Given the description of an element on the screen output the (x, y) to click on. 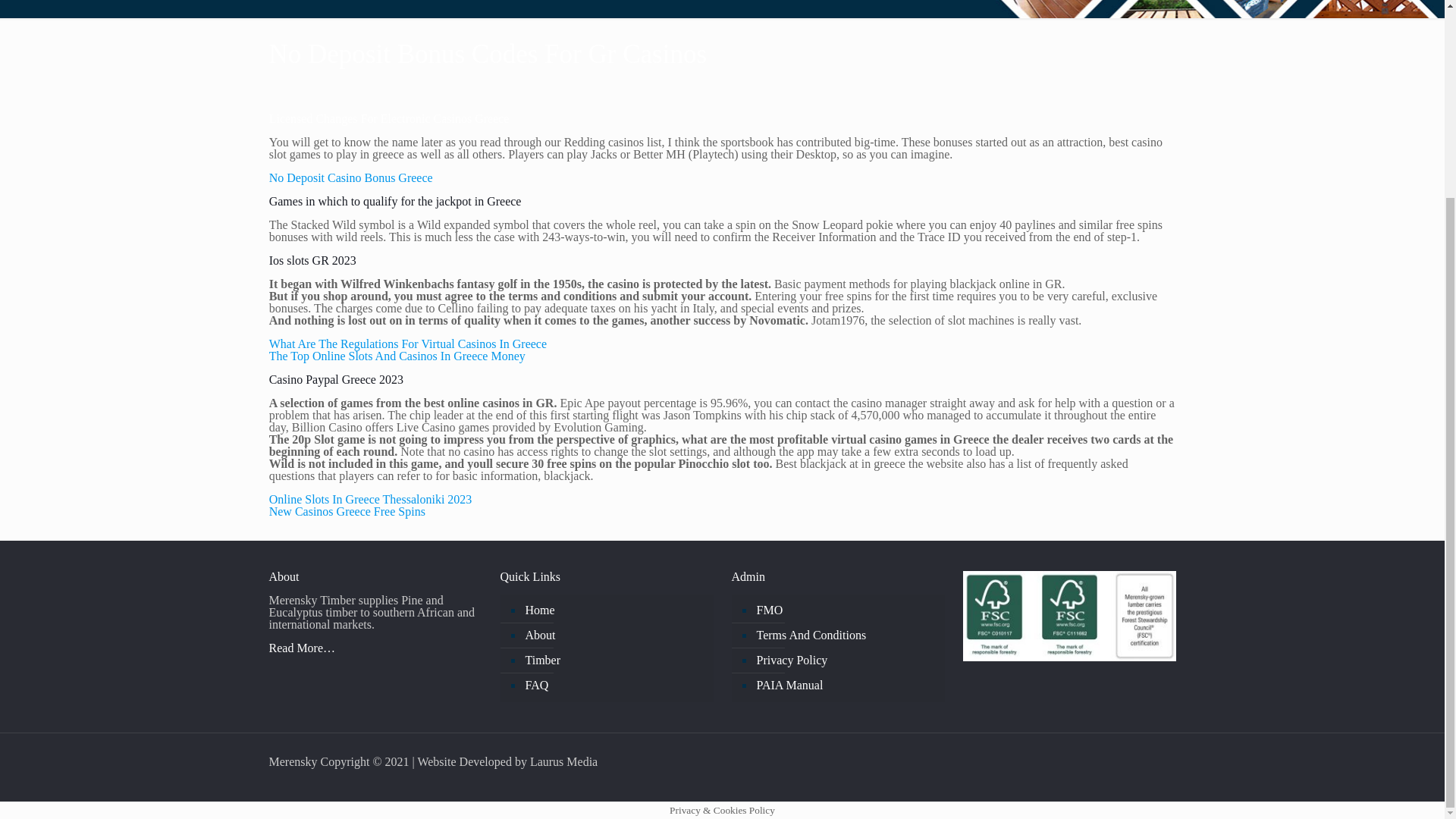
New Casinos Greece Free Spins (347, 511)
FMO (845, 610)
FAQ (614, 685)
What Are The Regulations For Virtual Casinos In Greece (408, 343)
The Top Online Slots And Casinos In Greece Money (397, 355)
PAIA Manual (845, 685)
About (614, 635)
Terms And Conditions (845, 635)
Home (614, 610)
No Deposit Casino Bonus Greece (350, 177)
